Given the description of an element on the screen output the (x, y) to click on. 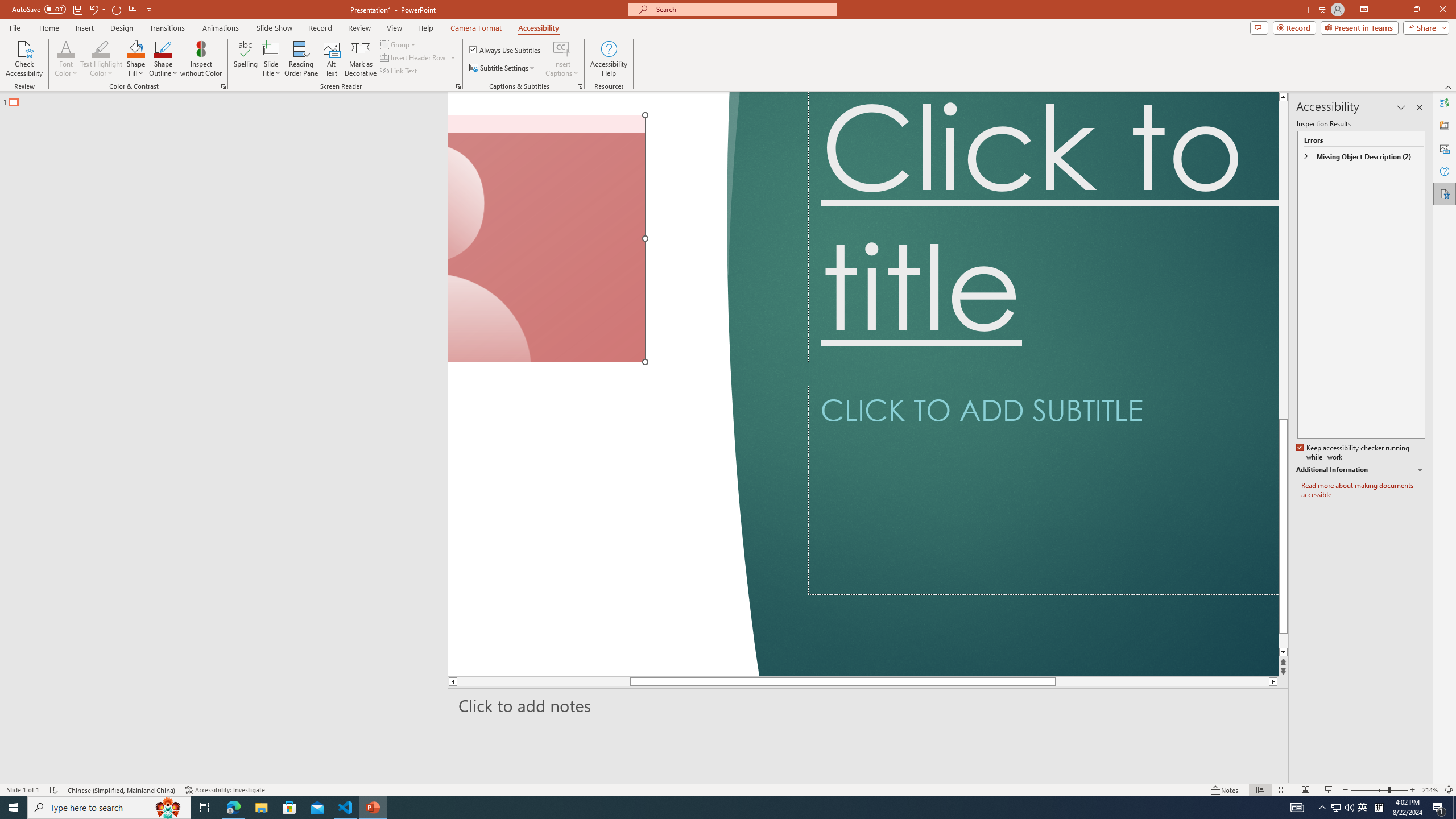
Insert Header Row (418, 56)
Reading Order Pane (301, 58)
Captions & Subtitles (580, 85)
